Given the description of an element on the screen output the (x, y) to click on. 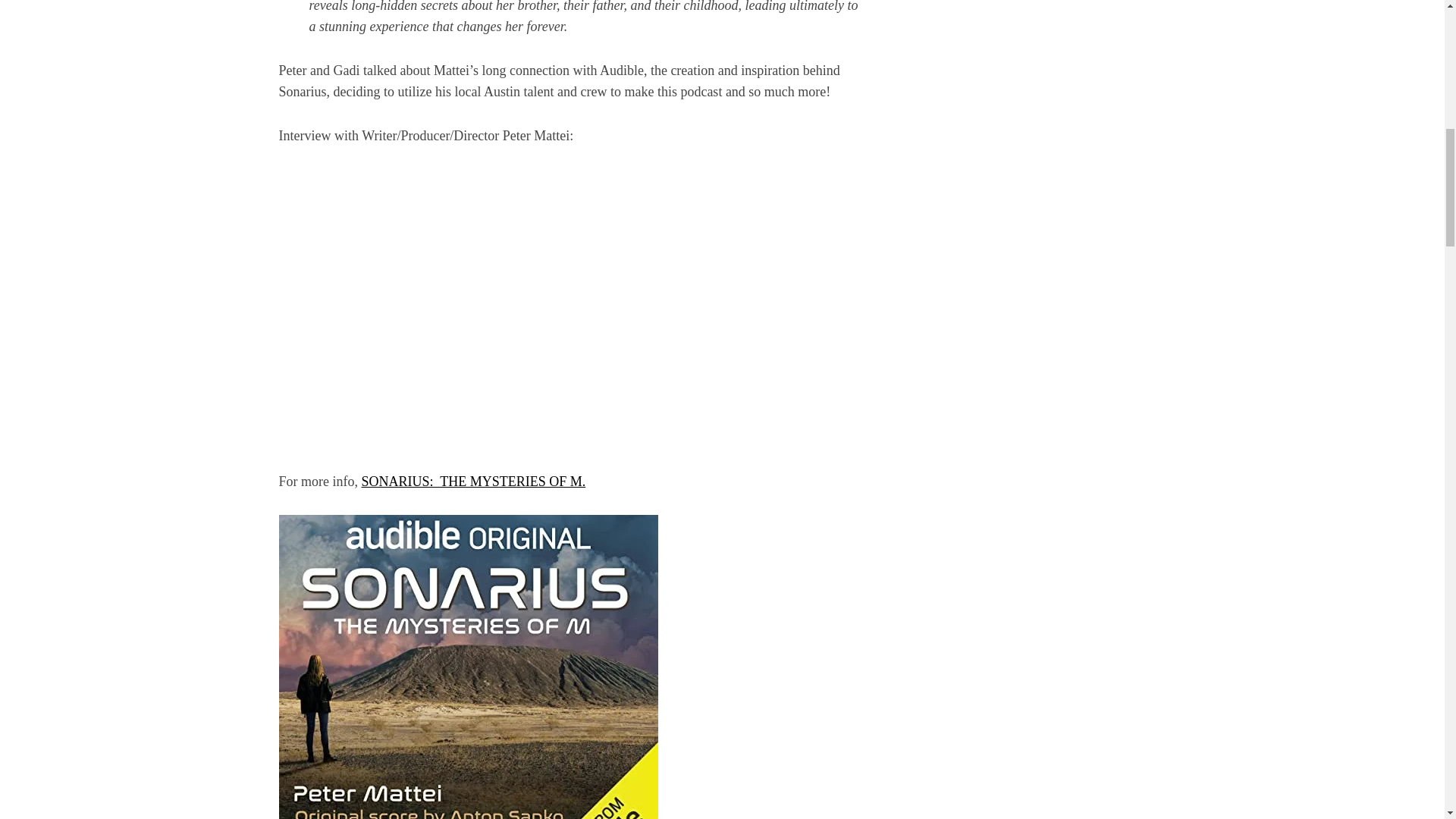
vimeo-player (521, 305)
